Given the description of an element on the screen output the (x, y) to click on. 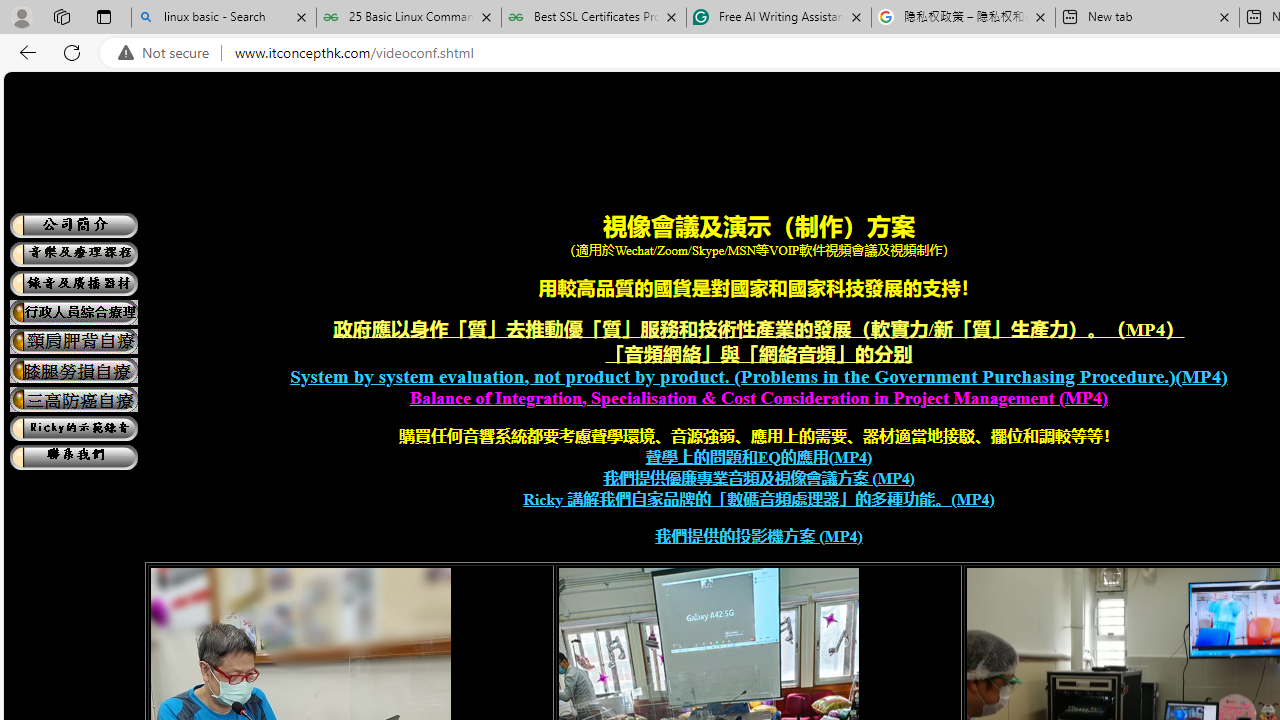
Free AI Writing Assistance for Students | Grammarly (779, 17)
linux basic - Search (223, 17)
